Given the description of an element on the screen output the (x, y) to click on. 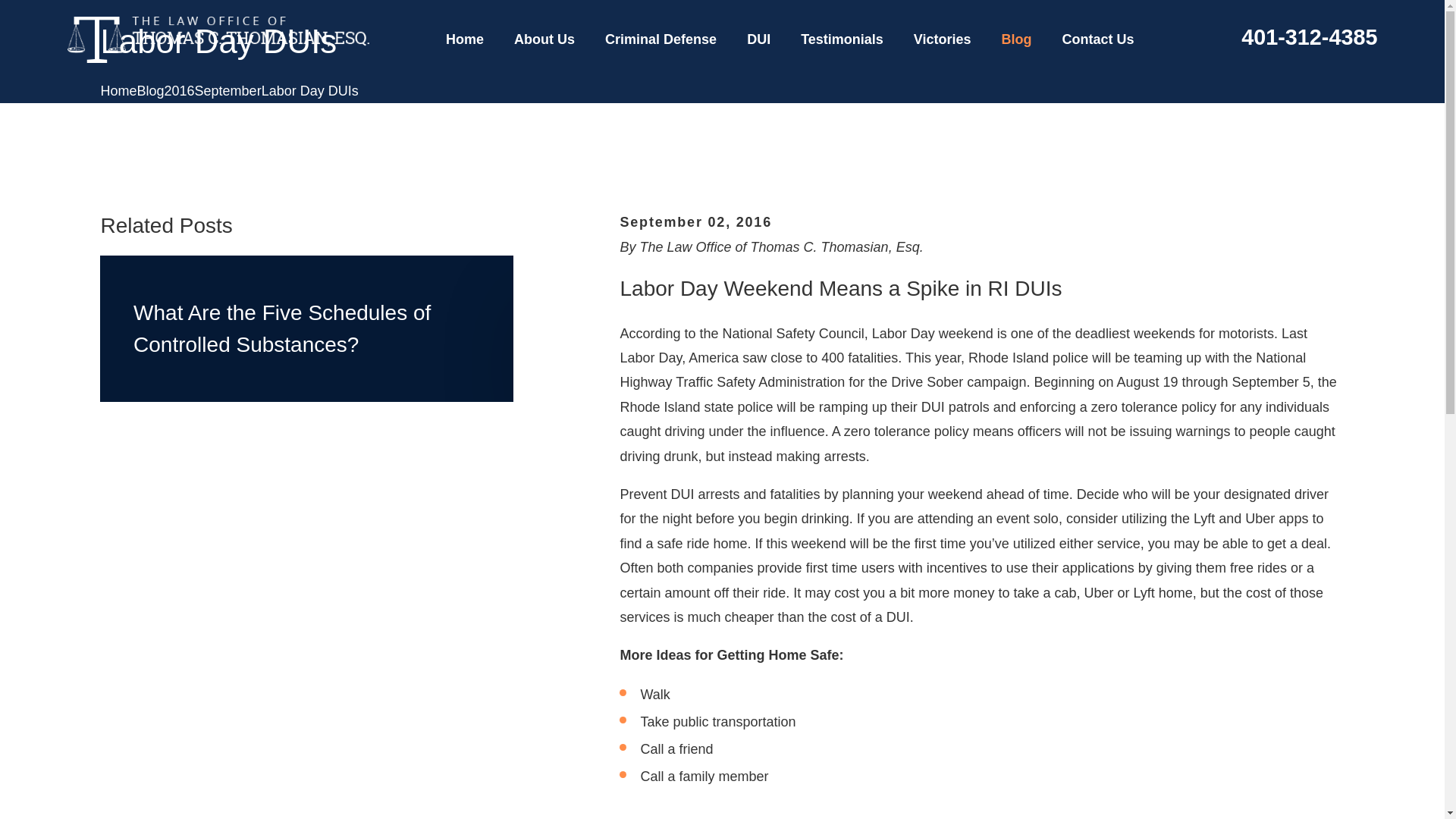
Victories (942, 39)
Home (217, 39)
Criminal Defense (660, 39)
Go Home (118, 90)
About Us (544, 39)
Testimonials (841, 39)
